Given the description of an element on the screen output the (x, y) to click on. 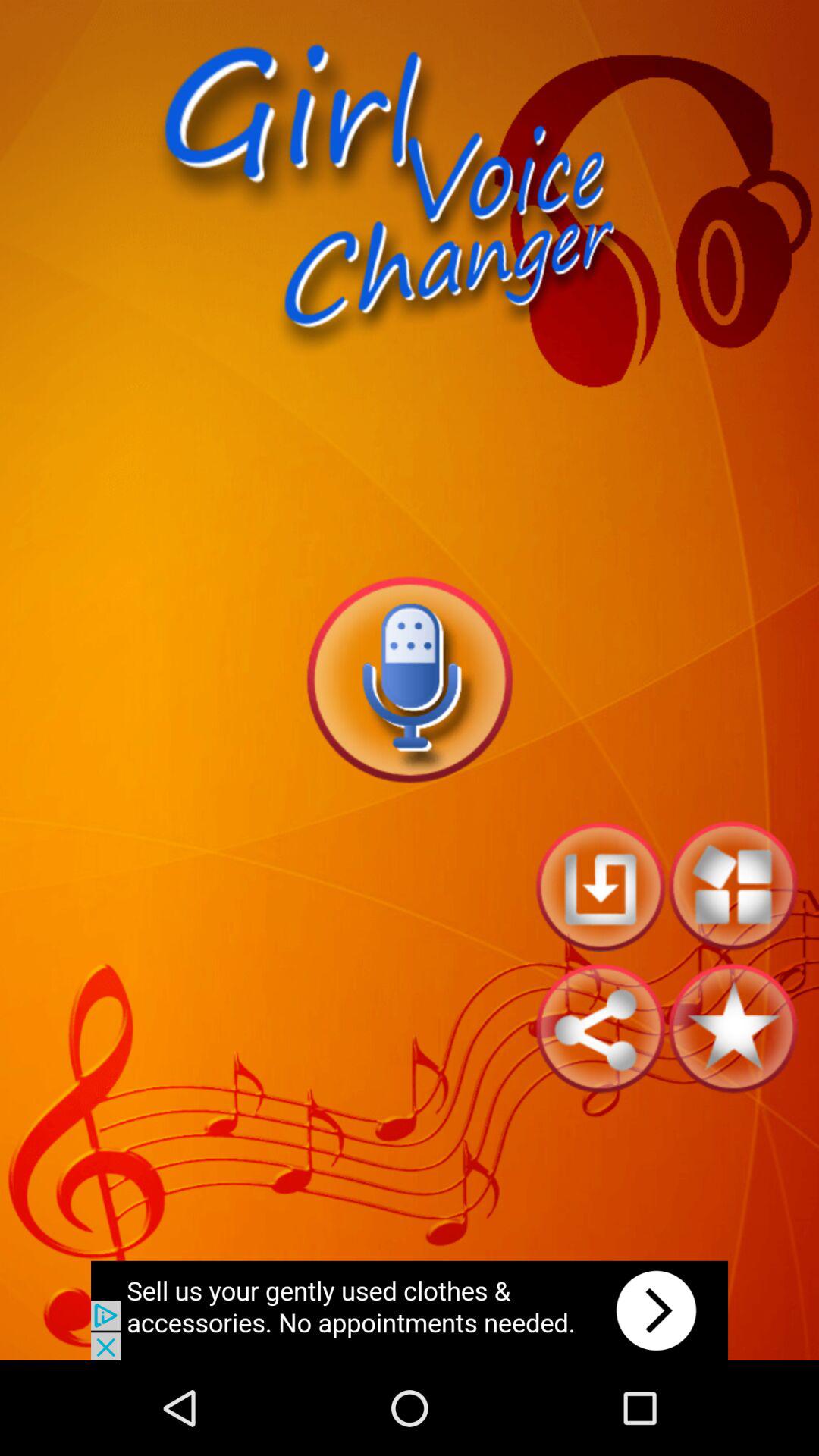
go back (600, 885)
